Given the description of an element on the screen output the (x, y) to click on. 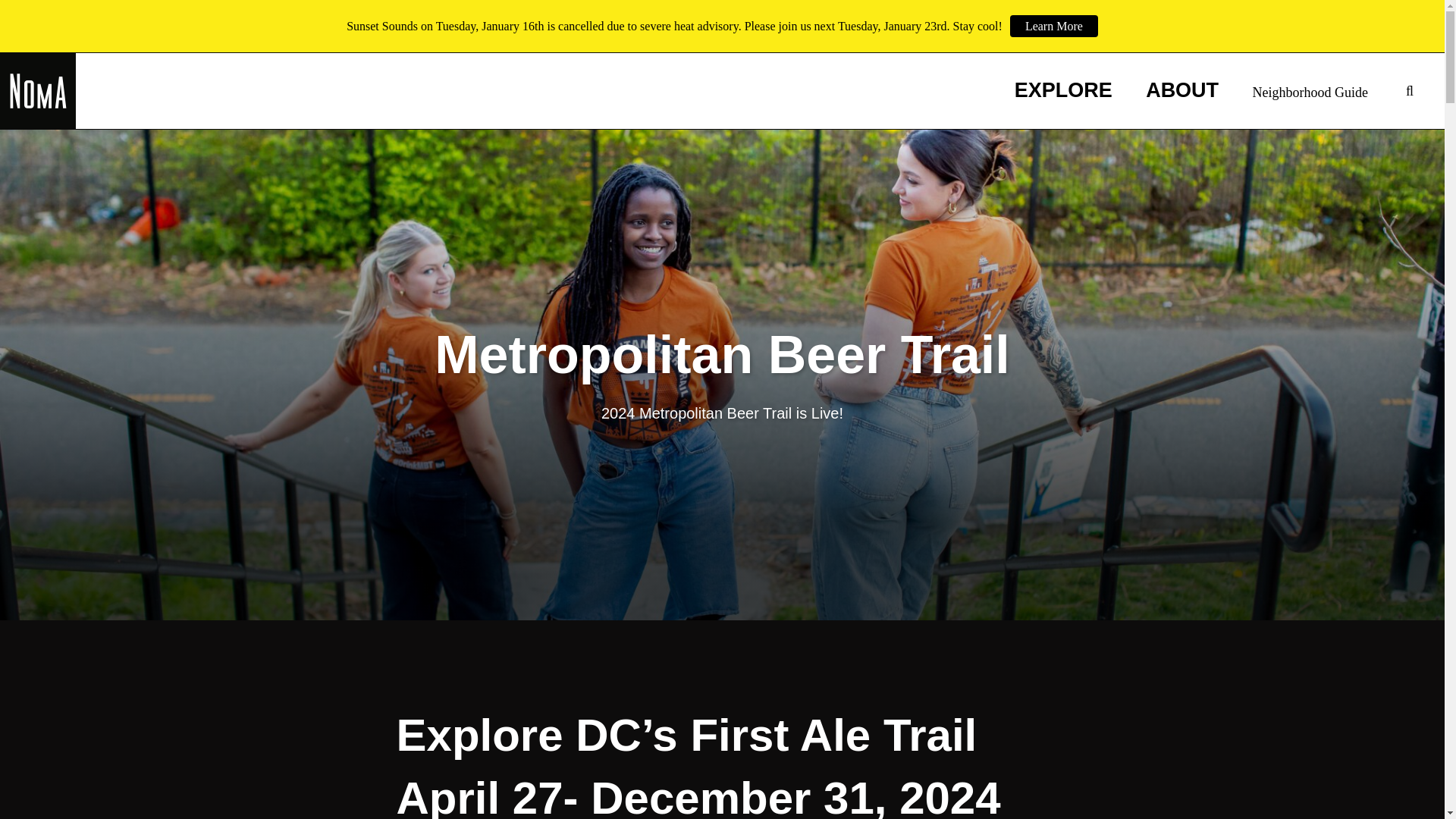
EXPLORE (1063, 90)
NoMa BID CoreLogo (37, 90)
Neighborhood Guide (1310, 93)
ABOUT (1181, 90)
